Given the description of an element on the screen output the (x, y) to click on. 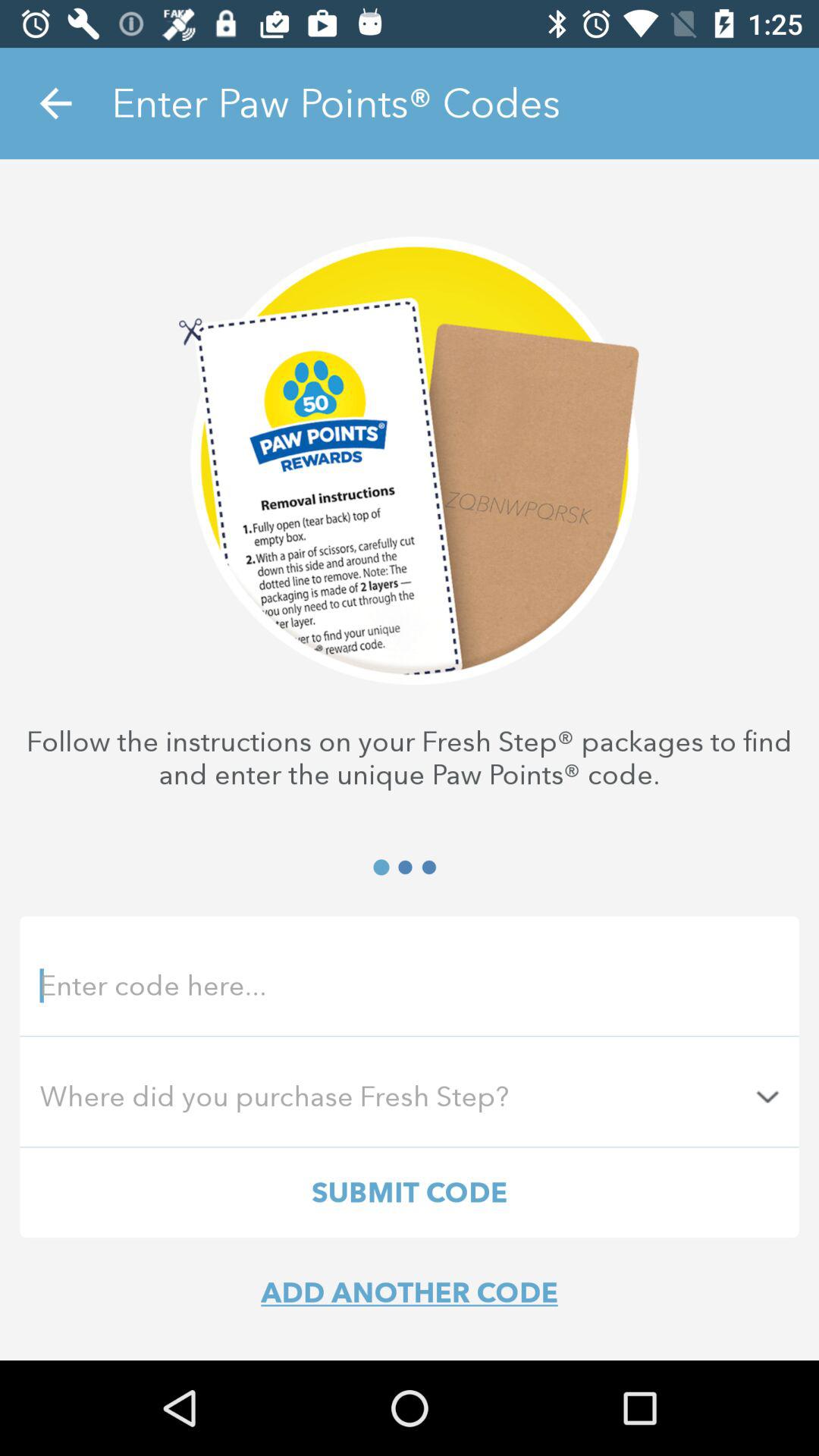
turn on icon to the left of enter paw points (55, 103)
